Given the description of an element on the screen output the (x, y) to click on. 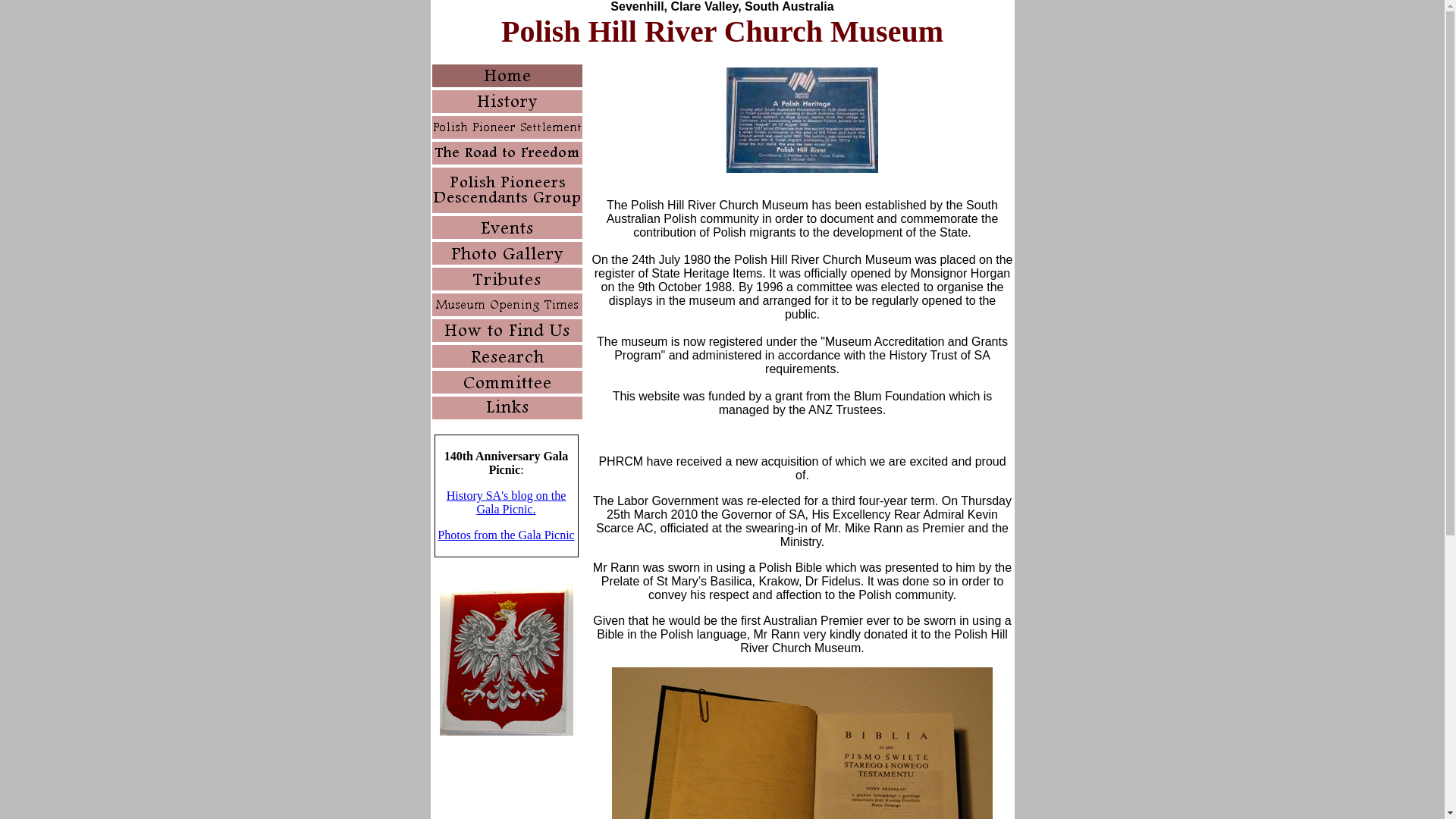
History SA's blog on the Gala Picnic. Element type: text (506, 502)
Photos from the Gala Picnic Element type: text (505, 534)
